Given the description of an element on the screen output the (x, y) to click on. 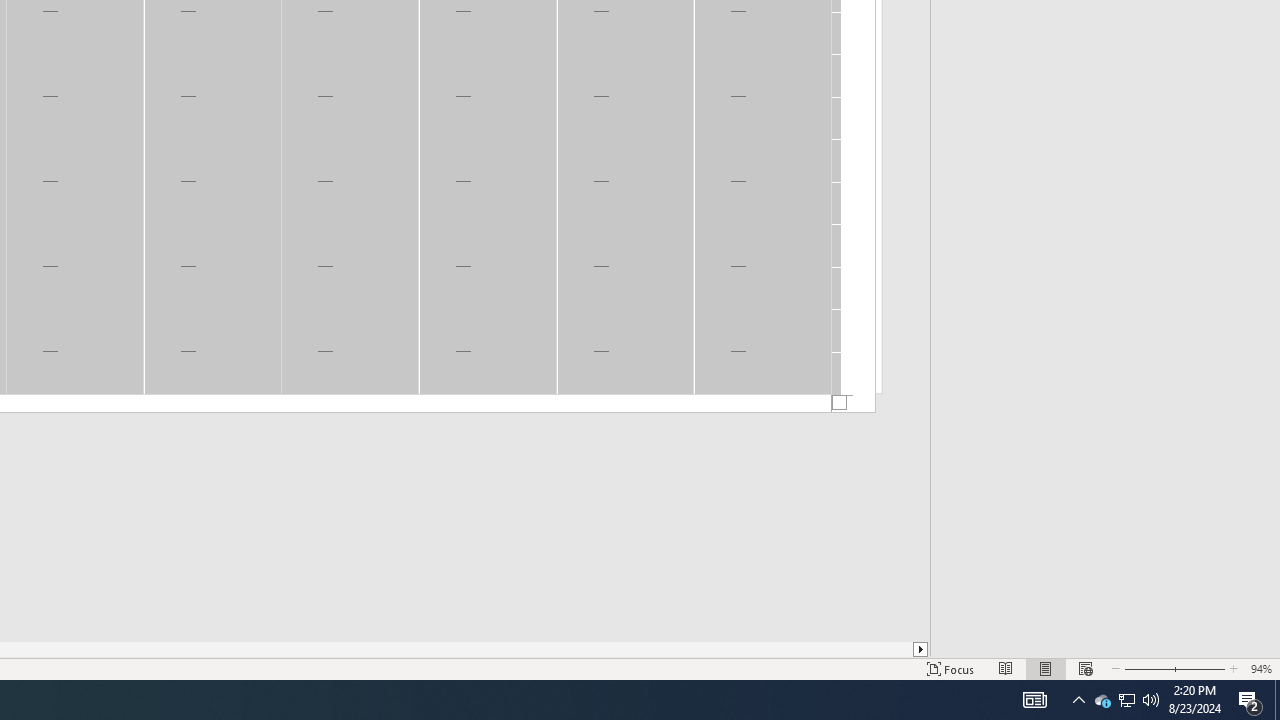
Column right (921, 649)
